Given the description of an element on the screen output the (x, y) to click on. 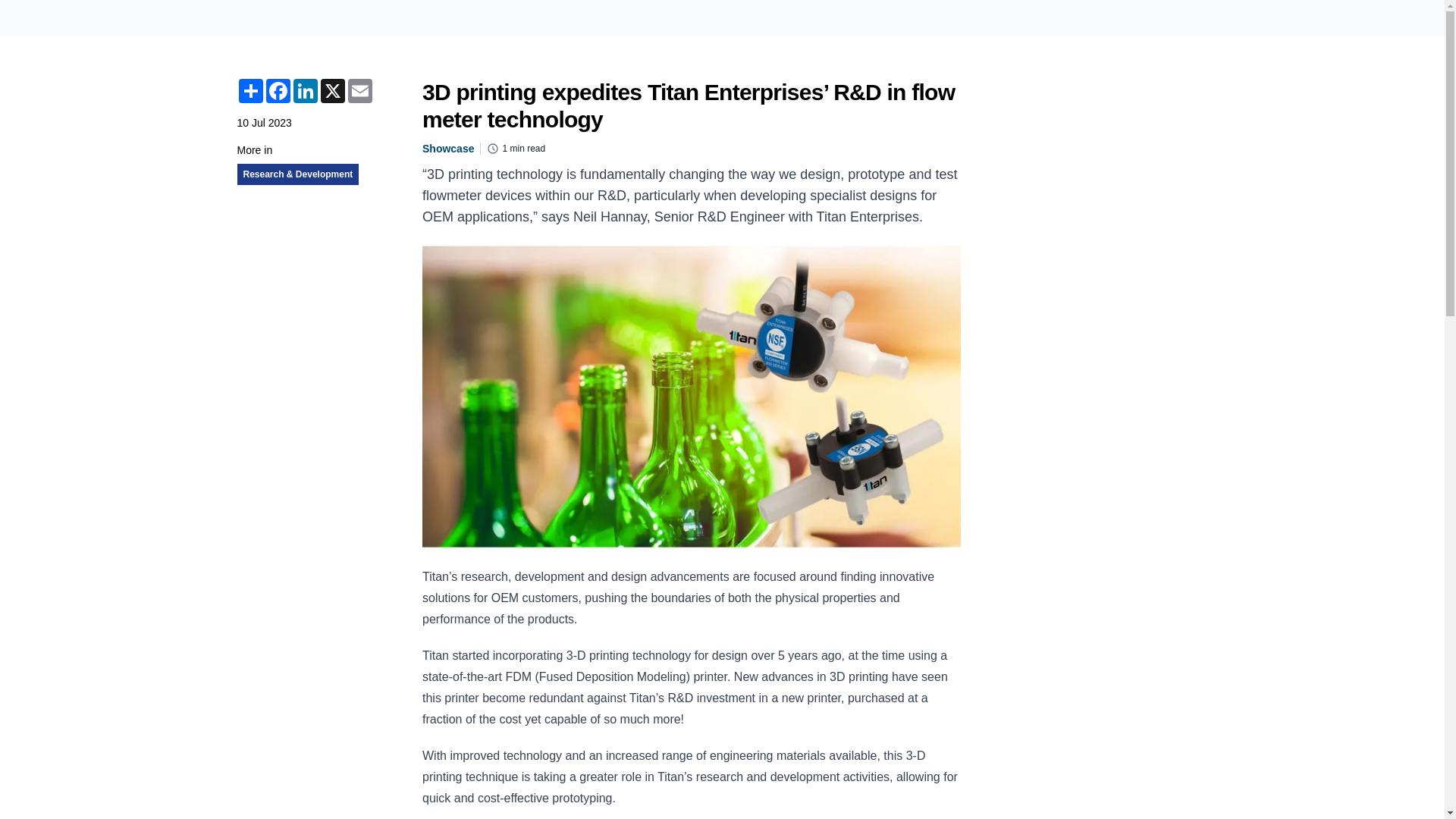
LinkedIn (304, 90)
Email (359, 90)
Facebook (277, 90)
Showcase (448, 148)
X (332, 90)
